Given the description of an element on the screen output the (x, y) to click on. 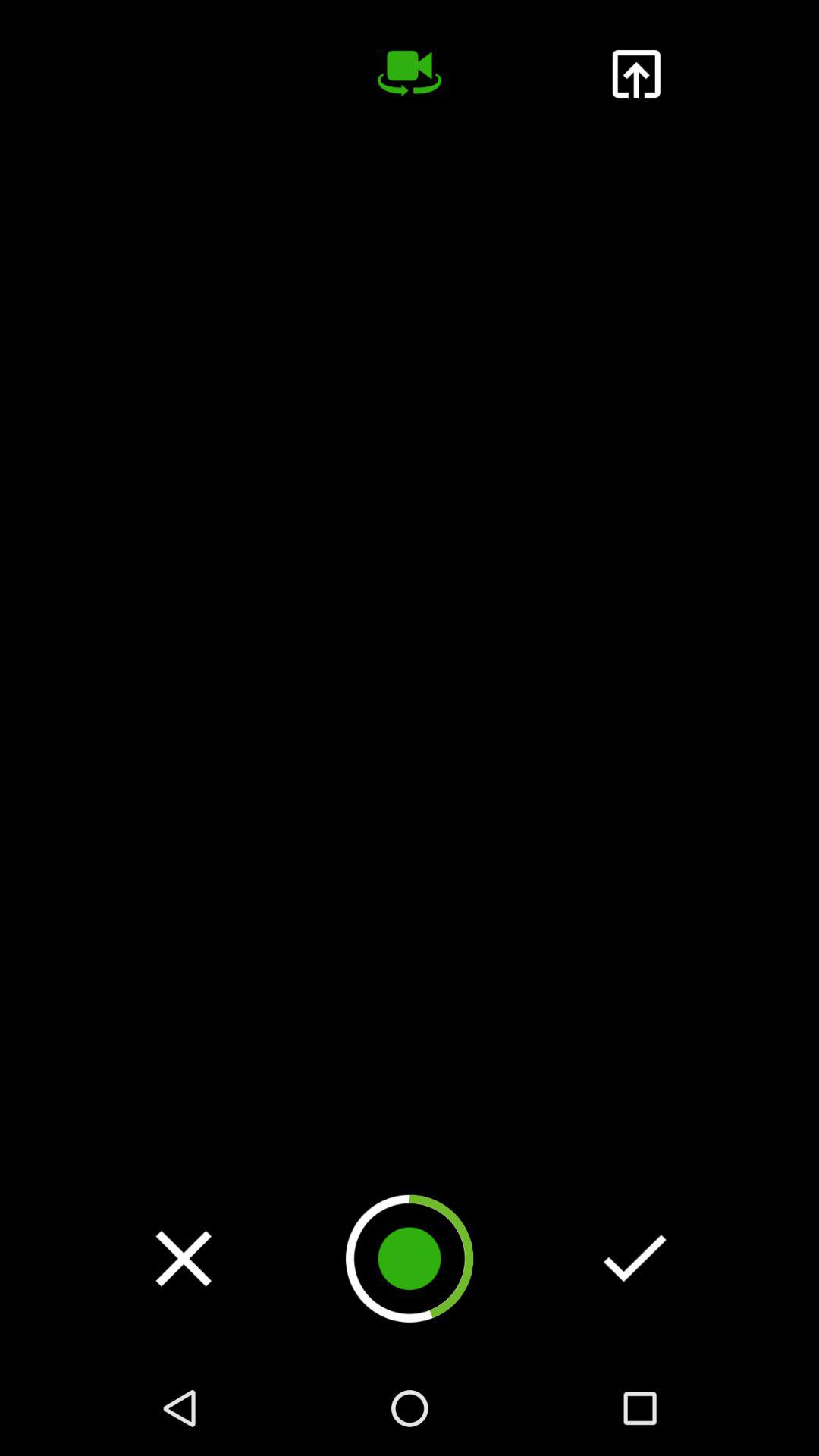
save or share video (635, 73)
